Given the description of an element on the screen output the (x, y) to click on. 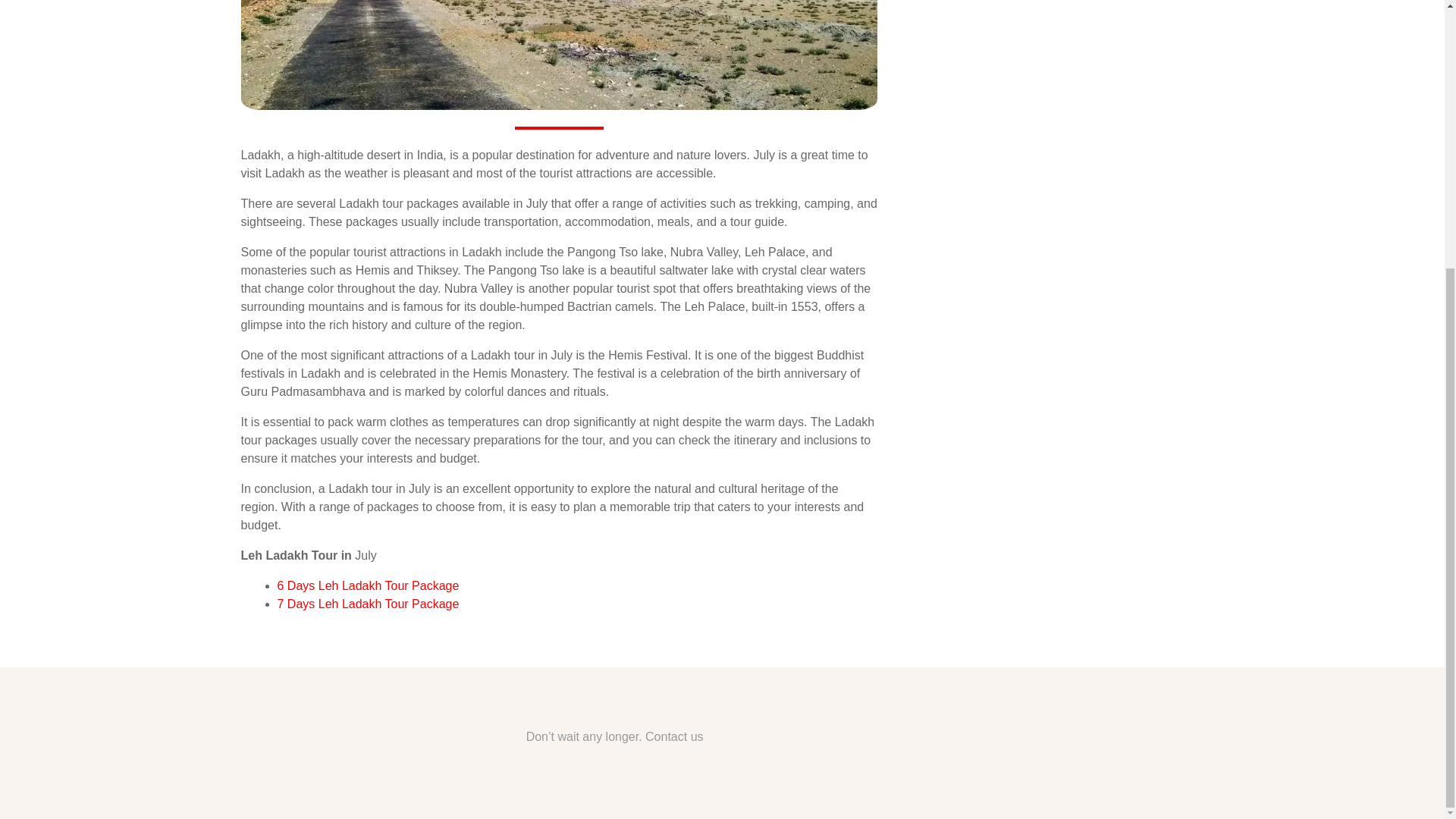
7 Days Leh Ladakh Tour Package (369, 603)
6 Days Leh Ladakh Tour Package (369, 585)
